Given the description of an element on the screen output the (x, y) to click on. 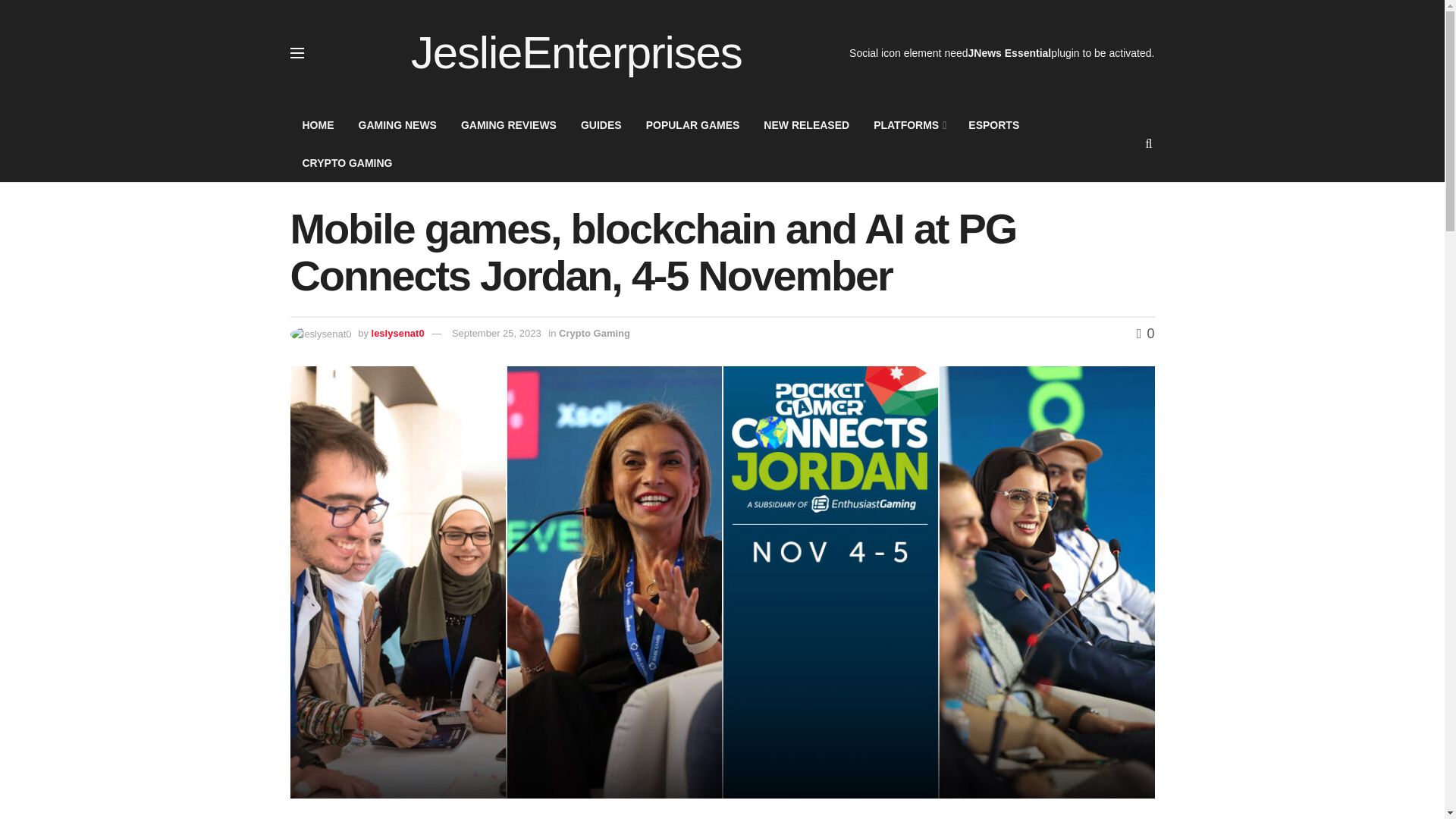
Crypto Gaming (594, 333)
PLATFORMS (908, 125)
ESPORTS (993, 125)
leslysenat0 (398, 333)
POPULAR GAMES (692, 125)
GUIDES (601, 125)
JeslieEnterprises (575, 53)
0 (1145, 333)
September 25, 2023 (496, 333)
CRYPTO GAMING (346, 162)
